Given the description of an element on the screen output the (x, y) to click on. 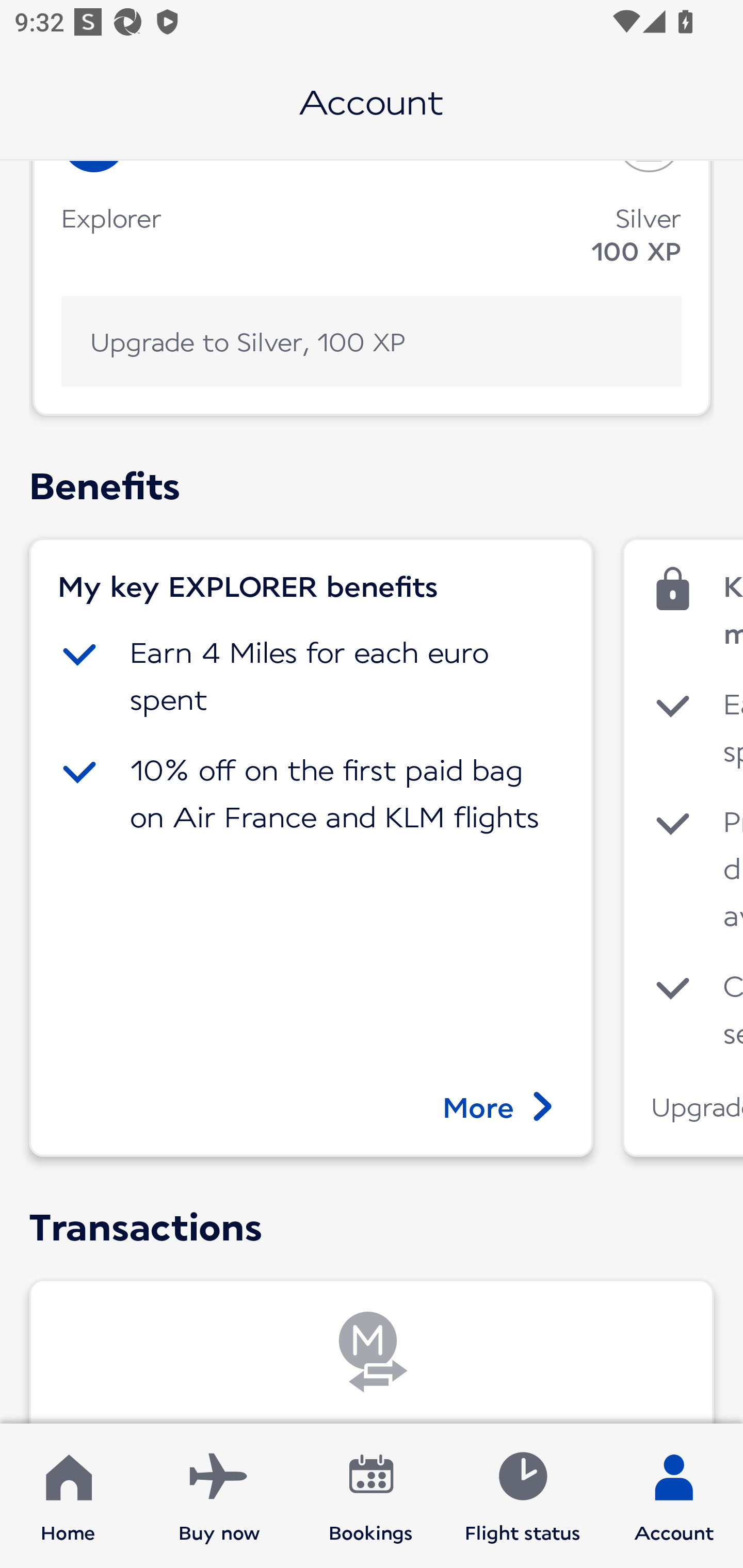
Explorer Silver 100 XP Upgrade to Silver, 100 XP (371, 288)
Home (68, 1495)
Buy now (219, 1495)
Bookings (370, 1495)
Flight status (522, 1495)
